Given the description of an element on the screen output the (x, y) to click on. 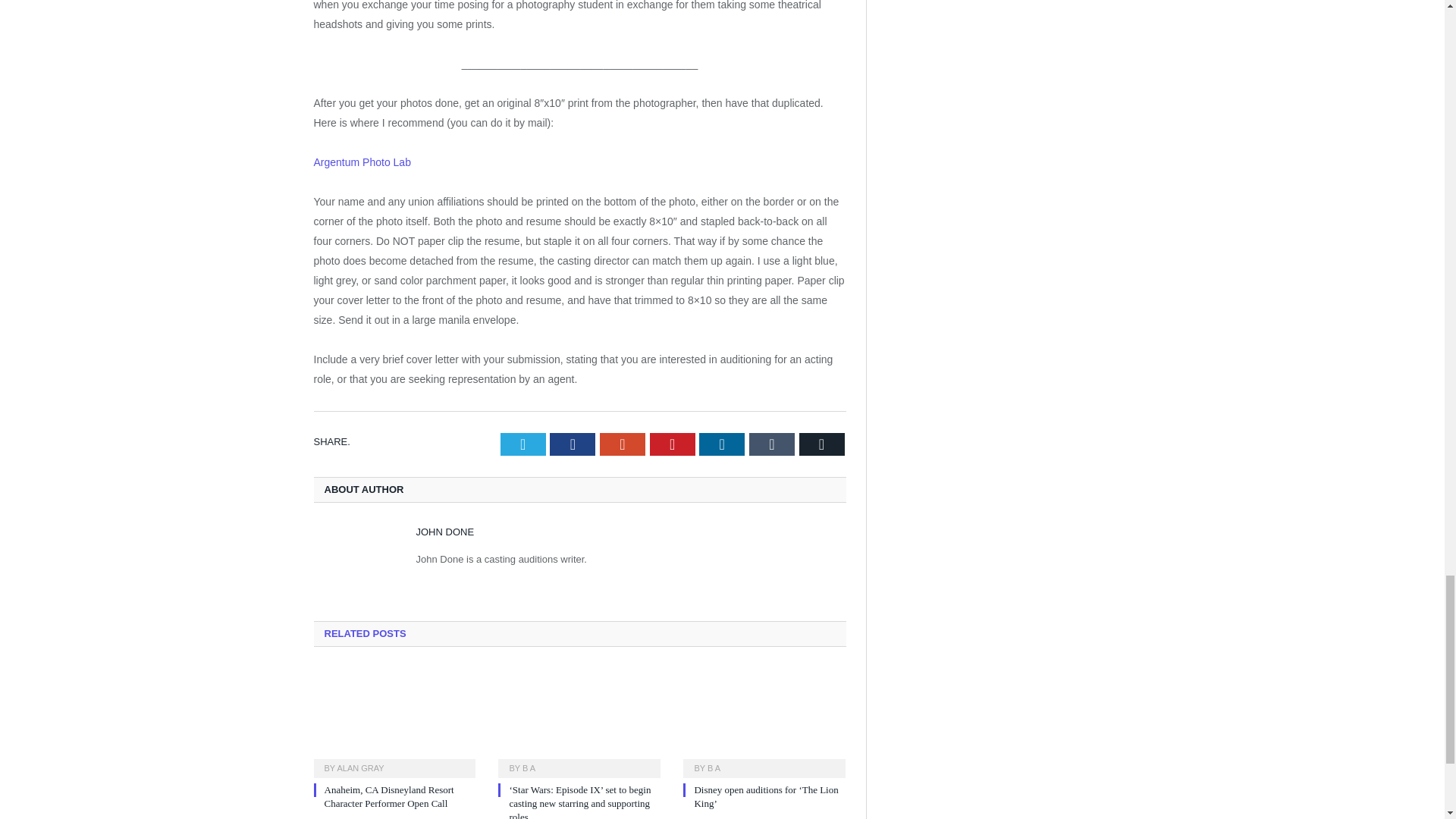
B A (528, 768)
Twitter (523, 444)
Email (821, 444)
Posts by John Done (444, 531)
LinkedIn (721, 444)
Posts by Alan Gray (360, 768)
Argentum Photo Lab (362, 172)
Pinterest (672, 444)
Anaheim, CA Disneyland Resort Character Performer Open Call (395, 720)
Facebook (572, 444)
